Given the description of an element on the screen output the (x, y) to click on. 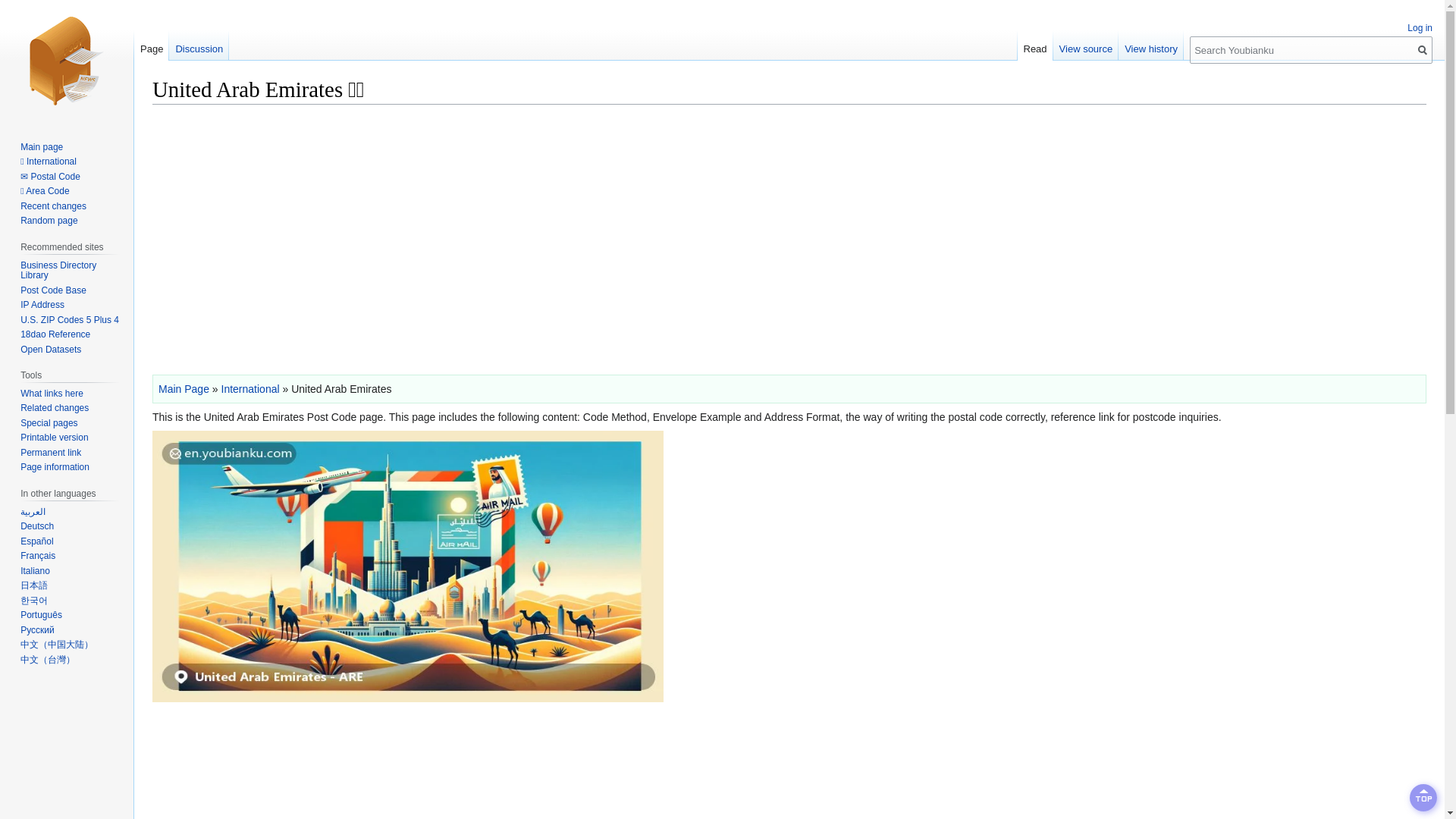
International (250, 388)
Special pages (48, 422)
Log in (1419, 27)
View source (1085, 45)
Recent changes (52, 205)
Page (150, 45)
Post Code Base (52, 290)
IP Address (42, 304)
View history (1150, 45)
